Given the description of an element on the screen output the (x, y) to click on. 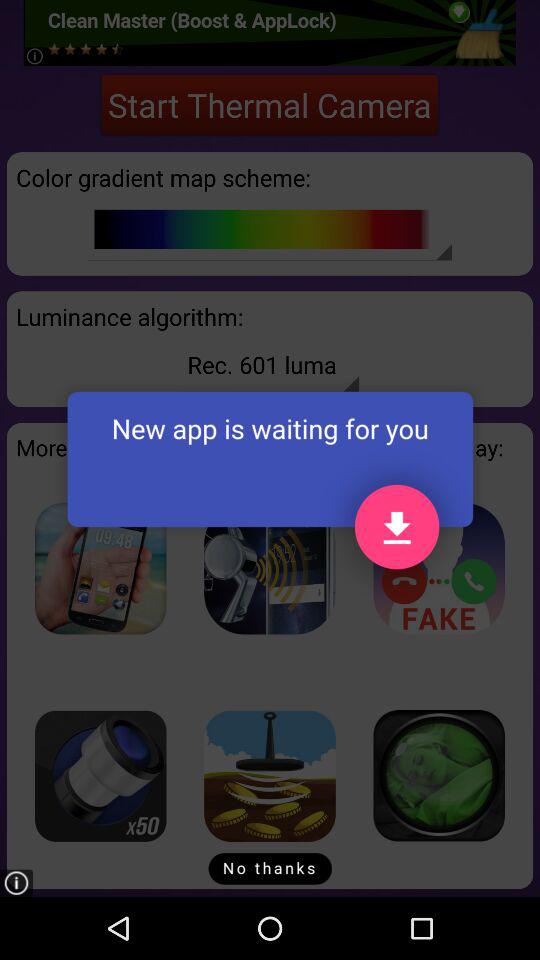
zoom lens (100, 776)
